Given the description of an element on the screen output the (x, y) to click on. 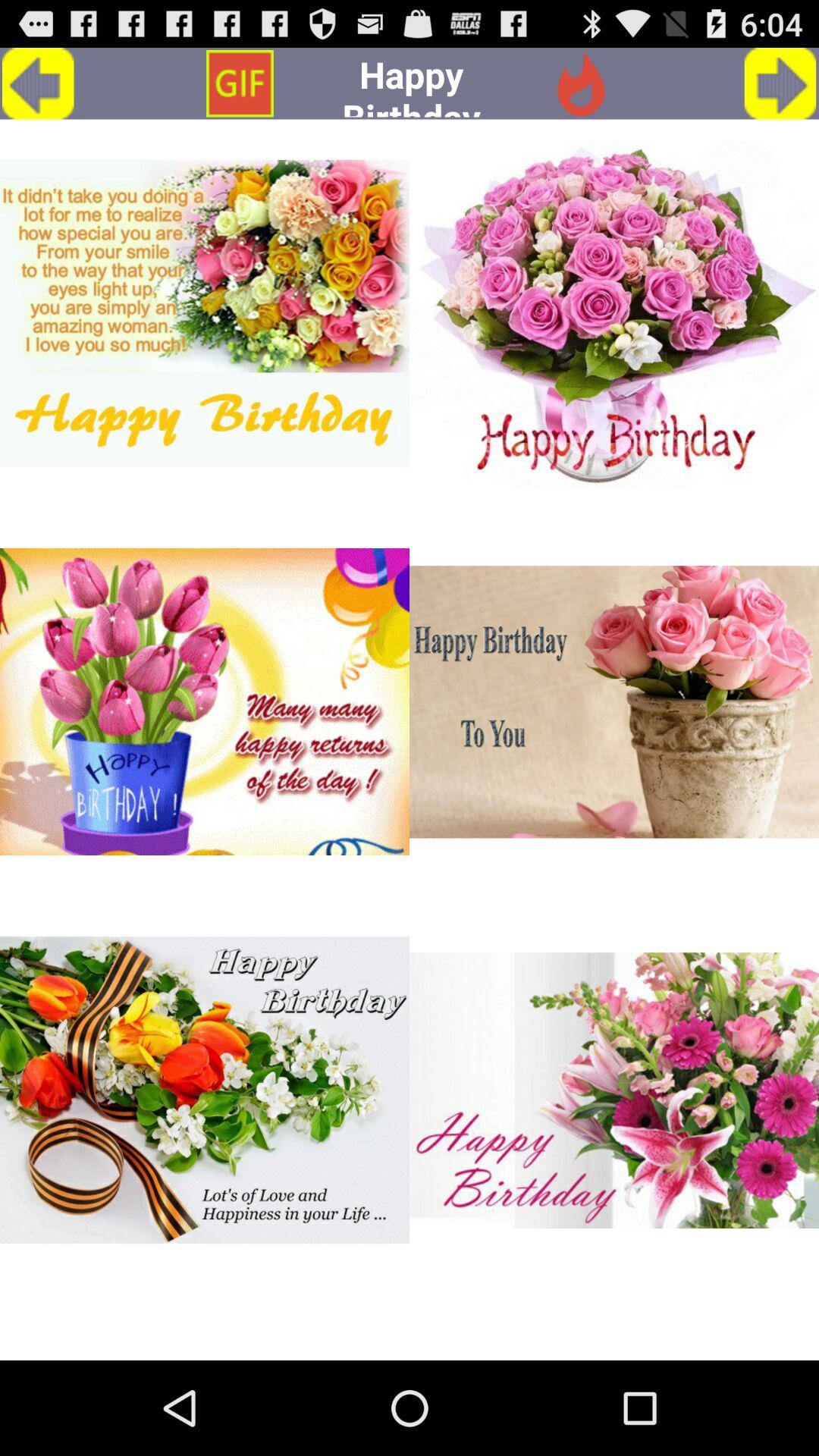
click icon to the right of happy birthday app (580, 83)
